Given the description of an element on the screen output the (x, y) to click on. 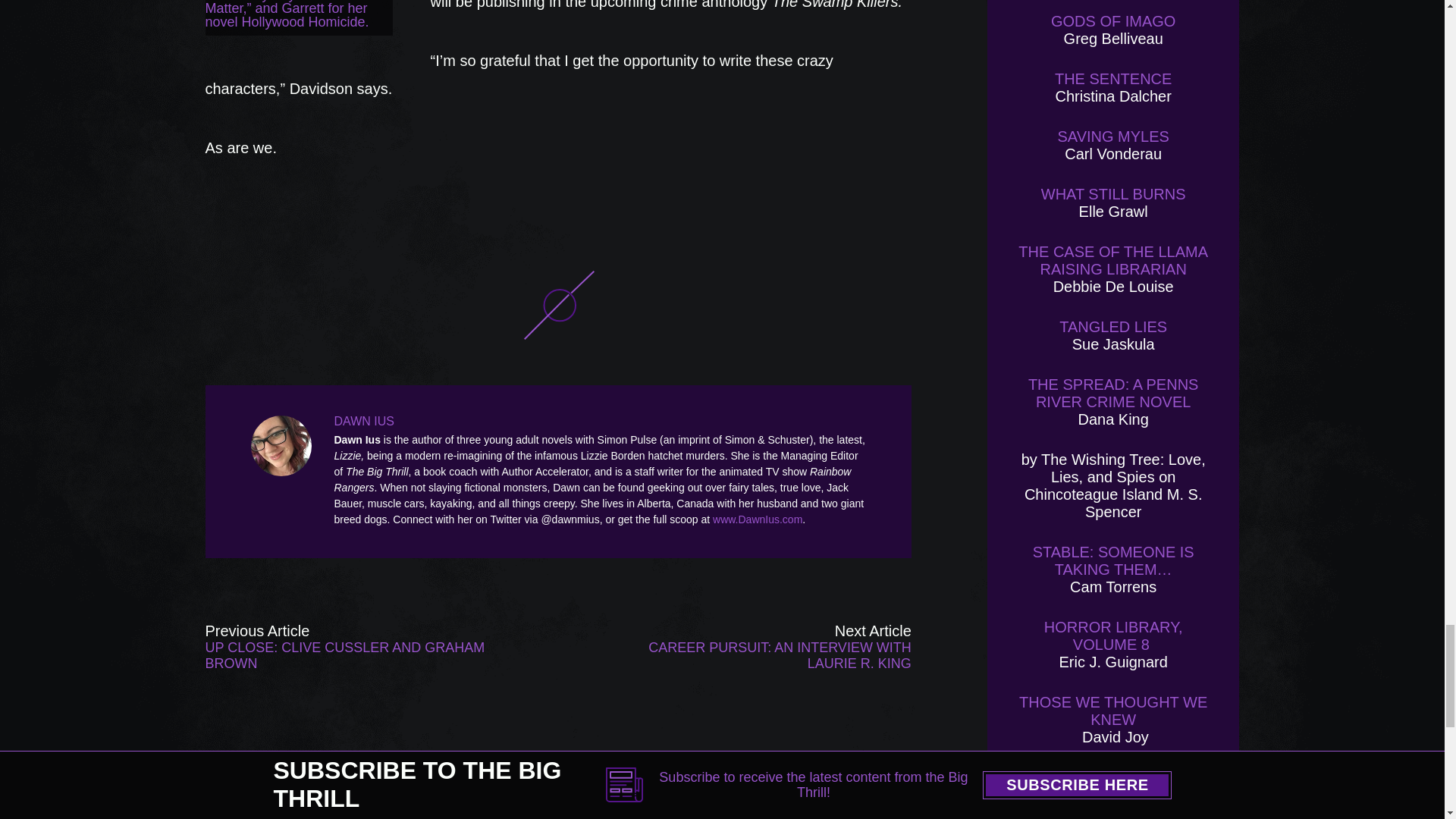
Up Close: Clive Cussler and Graham Brown (346, 646)
Career Pursuit: An Interview with Laurie R. King (769, 646)
Dawn Ius (284, 445)
